Given the description of an element on the screen output the (x, y) to click on. 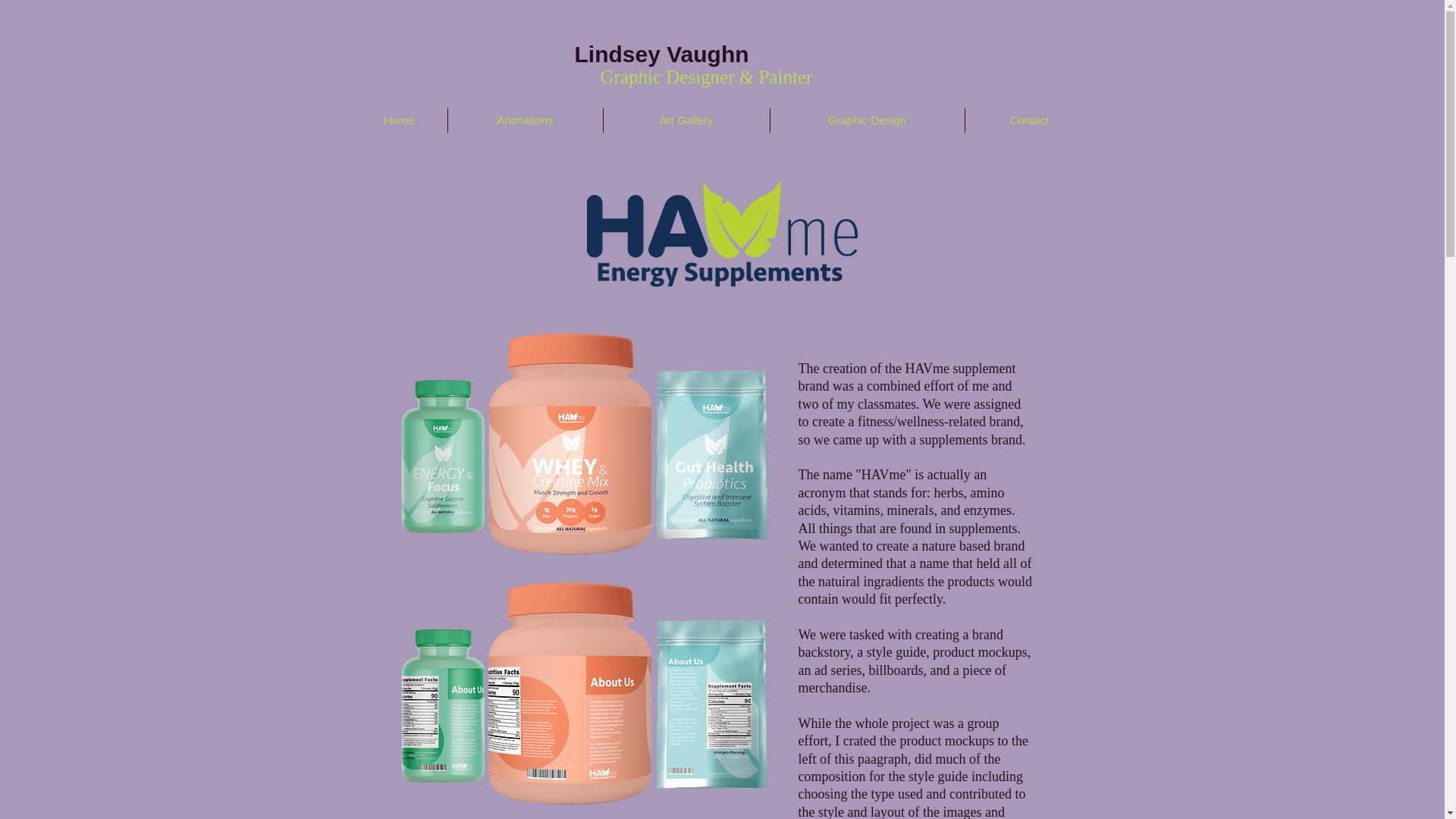
Art Gallery (687, 120)
Home (398, 120)
Contact (1028, 120)
Graphic Design (866, 120)
Animations (524, 120)
